Given the description of an element on the screen output the (x, y) to click on. 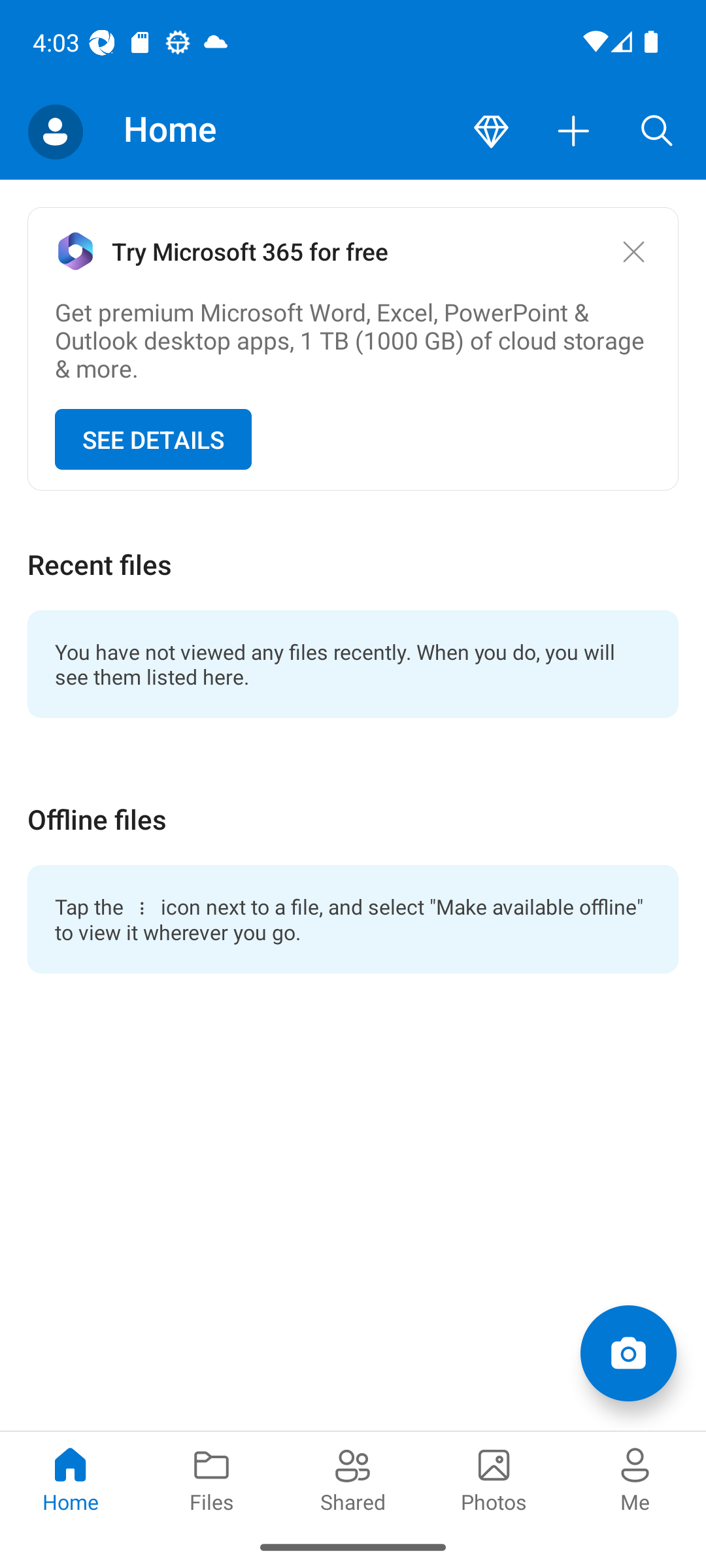
Account switcher (55, 131)
Premium button (491, 131)
More actions button (574, 131)
Search button (656, 131)
Close (633, 251)
SEE DETAILS (153, 439)
Scan (628, 1352)
Files pivot Files (211, 1478)
Shared pivot Shared (352, 1478)
Photos pivot Photos (493, 1478)
Me pivot Me (635, 1478)
